Given the description of an element on the screen output the (x, y) to click on. 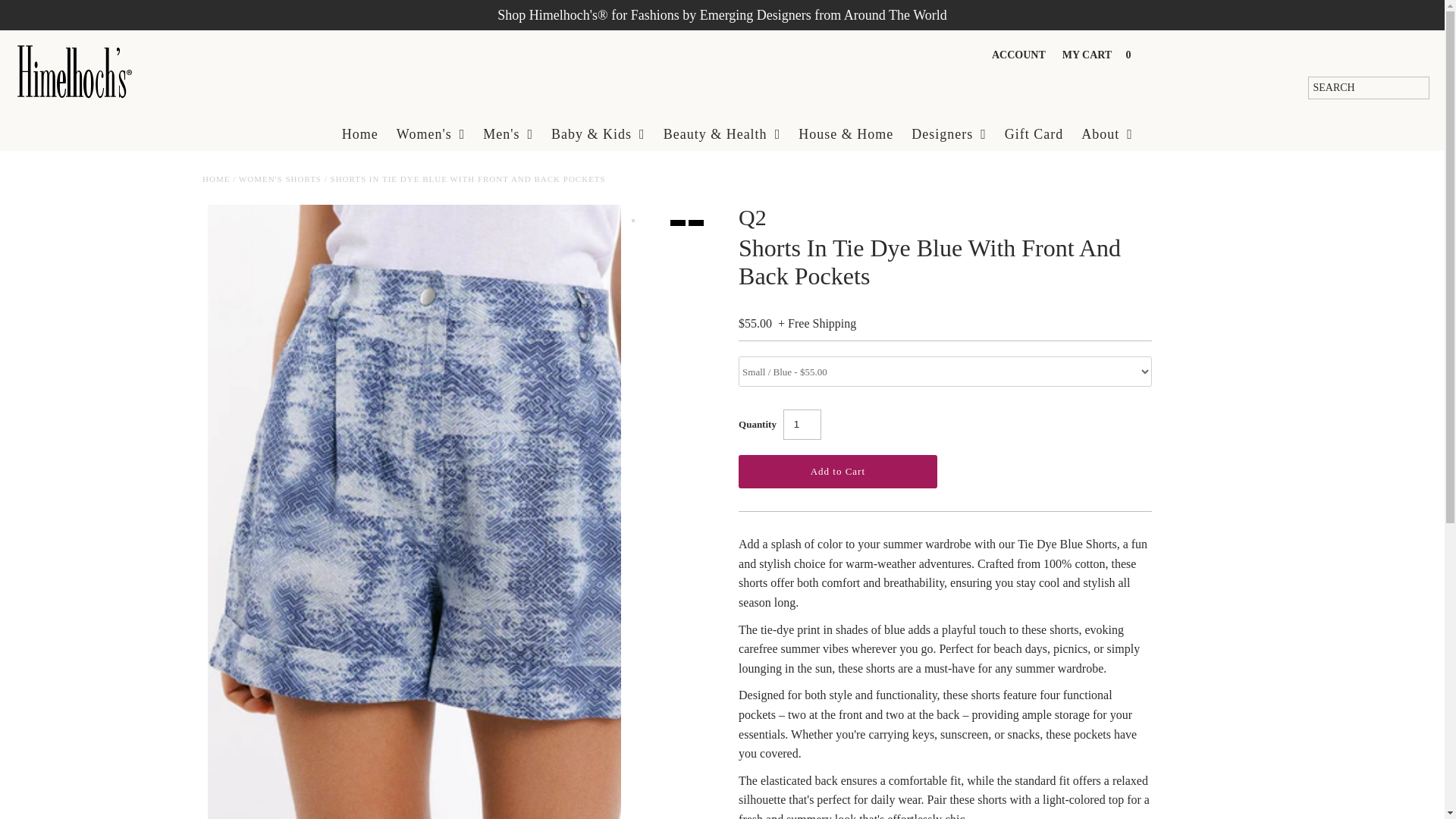
Home (216, 178)
1 (802, 424)
Women's Shorts (279, 178)
Add to Cart (837, 471)
